Given the description of an element on the screen output the (x, y) to click on. 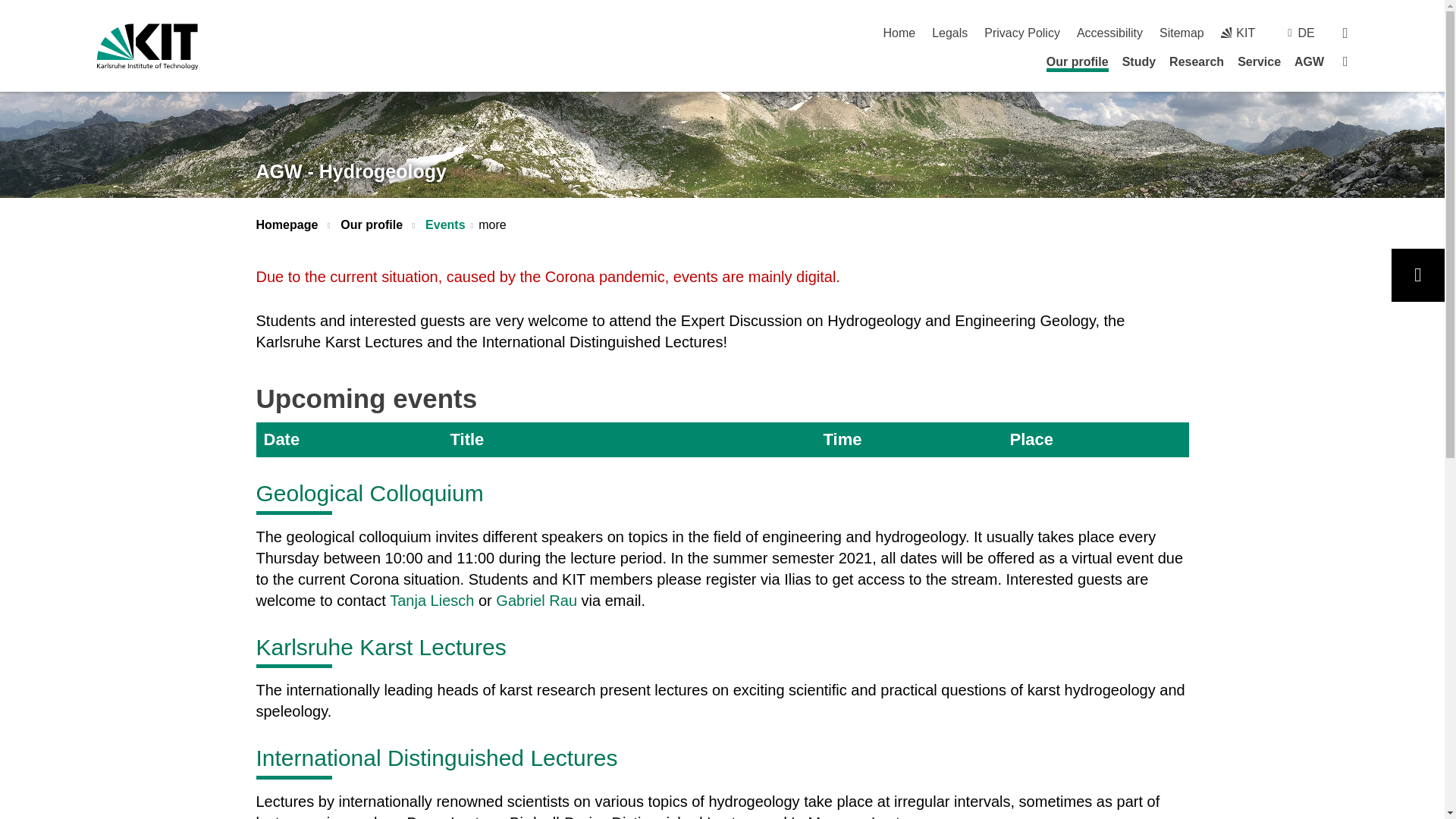
Sitemap (1181, 32)
startpage (898, 32)
AGW - Hydrogeology (351, 171)
KIT (1238, 32)
KIT-Homepage (1238, 32)
Legals (949, 32)
Accessibility (1109, 32)
Our profile (1077, 63)
KIT-Homepage (147, 46)
Home (898, 32)
DE (1305, 32)
Privacy Policy (1021, 32)
